Given the description of an element on the screen output the (x, y) to click on. 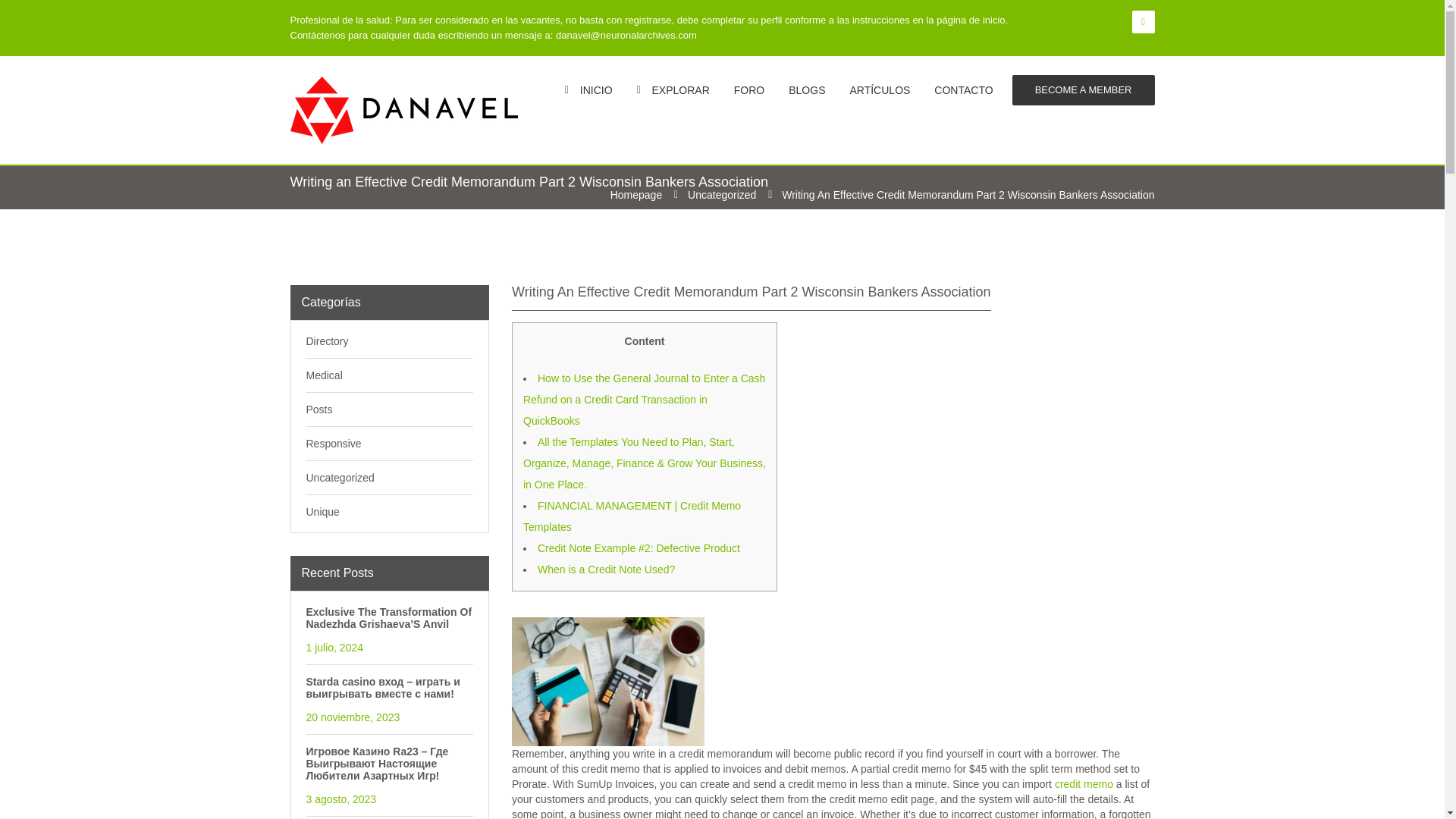
When is a Credit Note Used? (606, 569)
INICIO (588, 89)
FORO (748, 89)
BECOME A MEMBER (1082, 90)
Uncategorized (721, 194)
credit memo (1083, 784)
BLOGS (807, 89)
EXPLORAR (673, 89)
CONTACTO (963, 89)
